Given the description of an element on the screen output the (x, y) to click on. 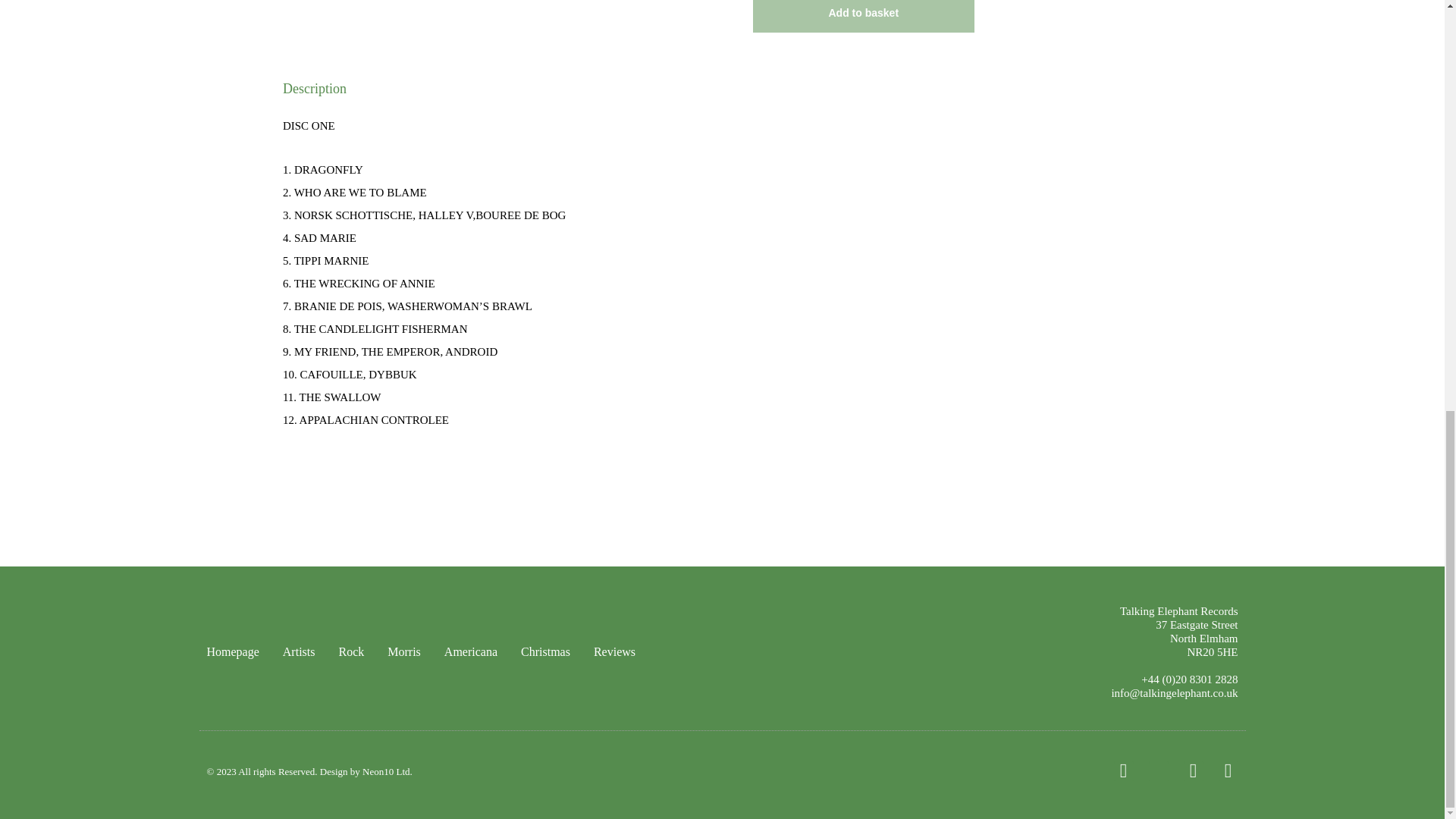
Add to basket (863, 16)
Homepage (232, 651)
Artists (298, 651)
Description (721, 88)
